Given the description of an element on the screen output the (x, y) to click on. 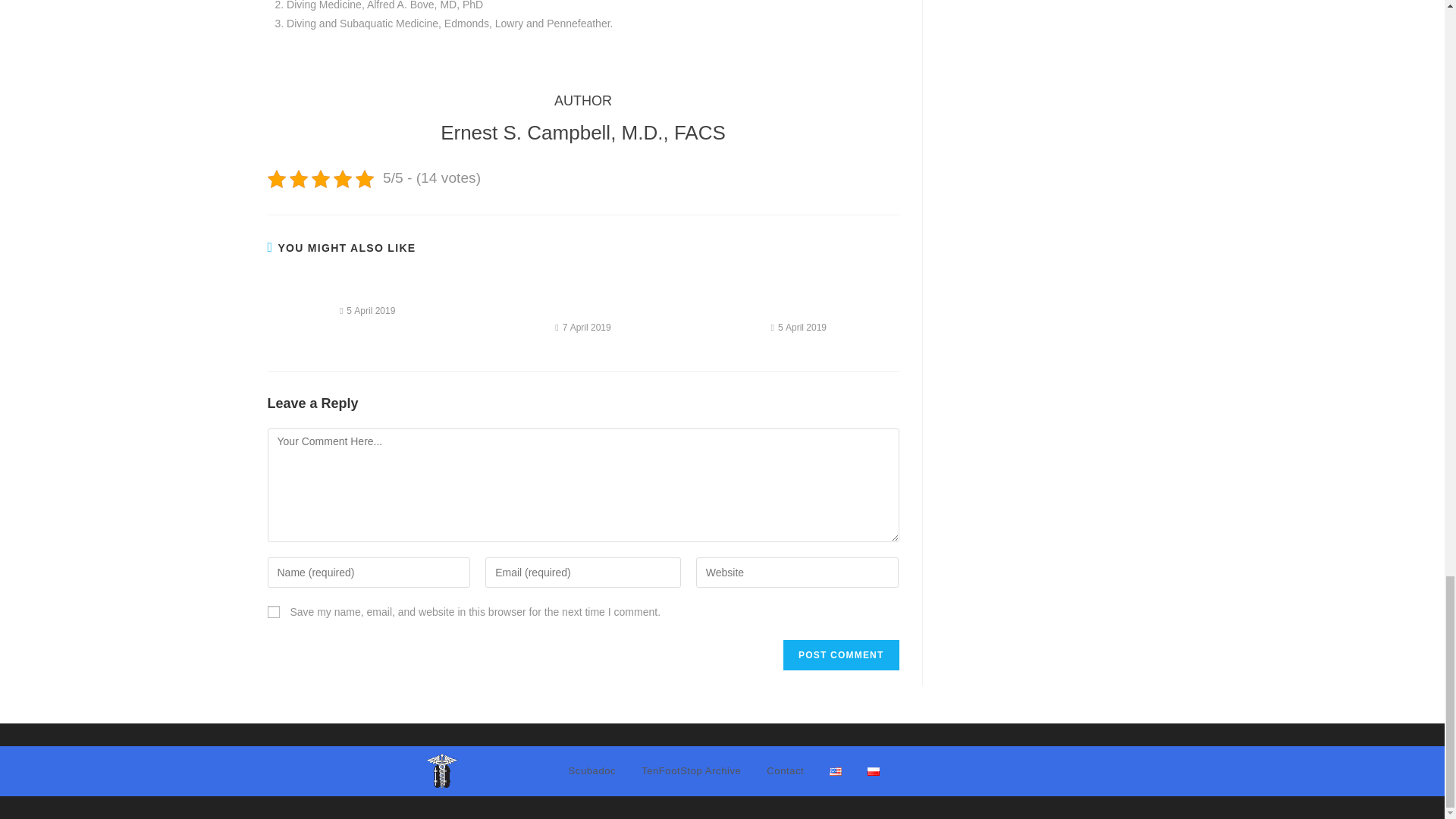
TenFootStop Archive (691, 770)
Total Anomalous Pulmonary Vein Return (583, 298)
Post Comment (840, 654)
Cardiac Surgery and Diving (367, 289)
Cardiovascular Drugs and Diving (798, 298)
Scubadoc (592, 770)
Cardiovascular Drugs and Diving (798, 298)
yes (272, 612)
Post Comment (840, 654)
Cardiac Surgery and Diving (367, 289)
Contact (785, 770)
Total Anomalous Pulmonary Vein Return (583, 298)
